Given the description of an element on the screen output the (x, y) to click on. 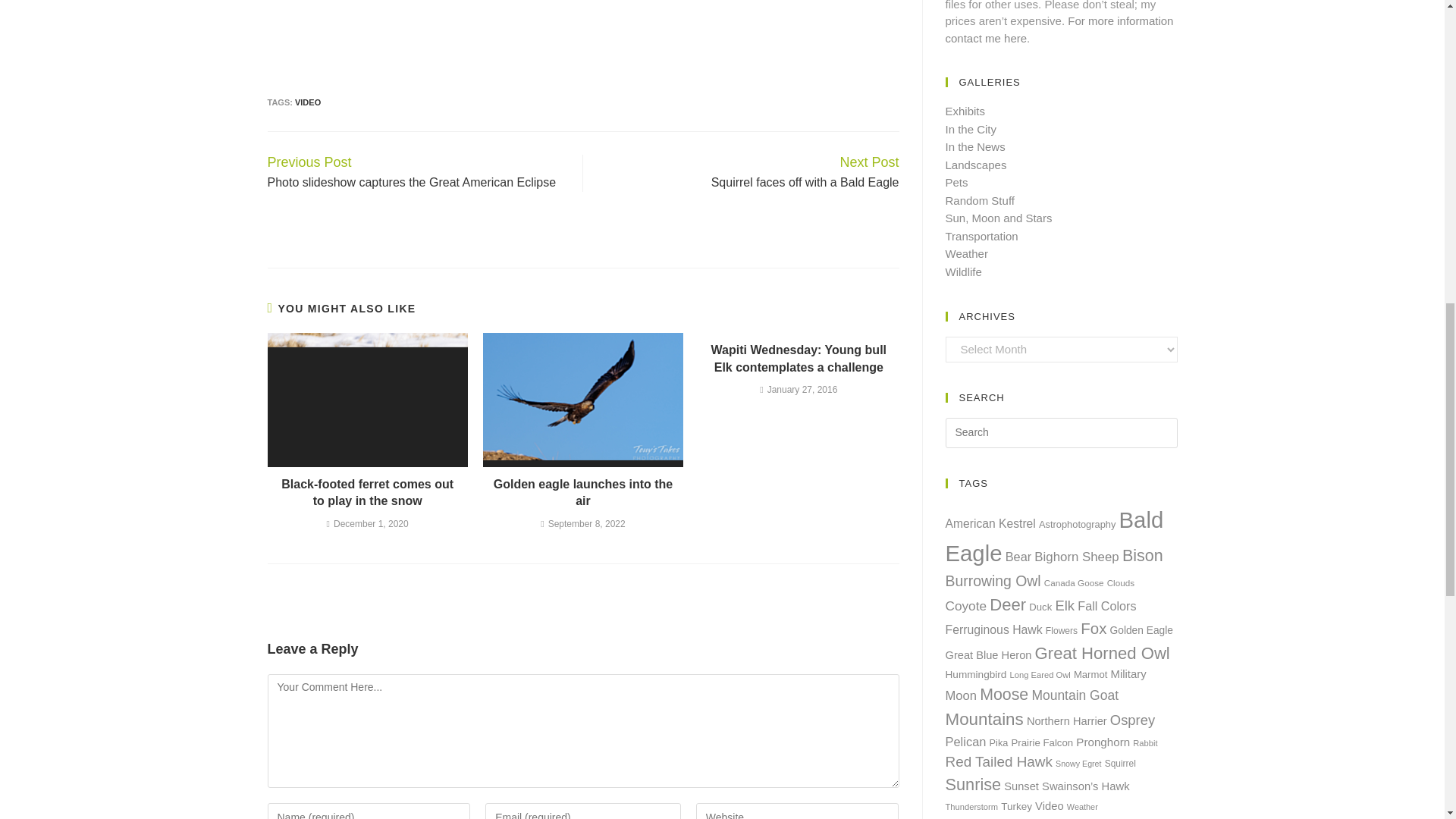
Golden eagle launches into the air (583, 492)
Black-footed ferret comes out to play in the snow (367, 492)
Wapiti Wednesday: Young bull Elk contemplates a challenge (798, 358)
VIDEO (307, 102)
Golden eagle launches into the air (582, 399)
Black-footed ferret comes out to play in the snow (367, 492)
Golden eagle launches into the air (583, 492)
Black-footed ferret comes out to play in the snow (366, 399)
Wapiti Wednesday: Young bull Elk contemplates a challenge (798, 358)
